Given the description of an element on the screen output the (x, y) to click on. 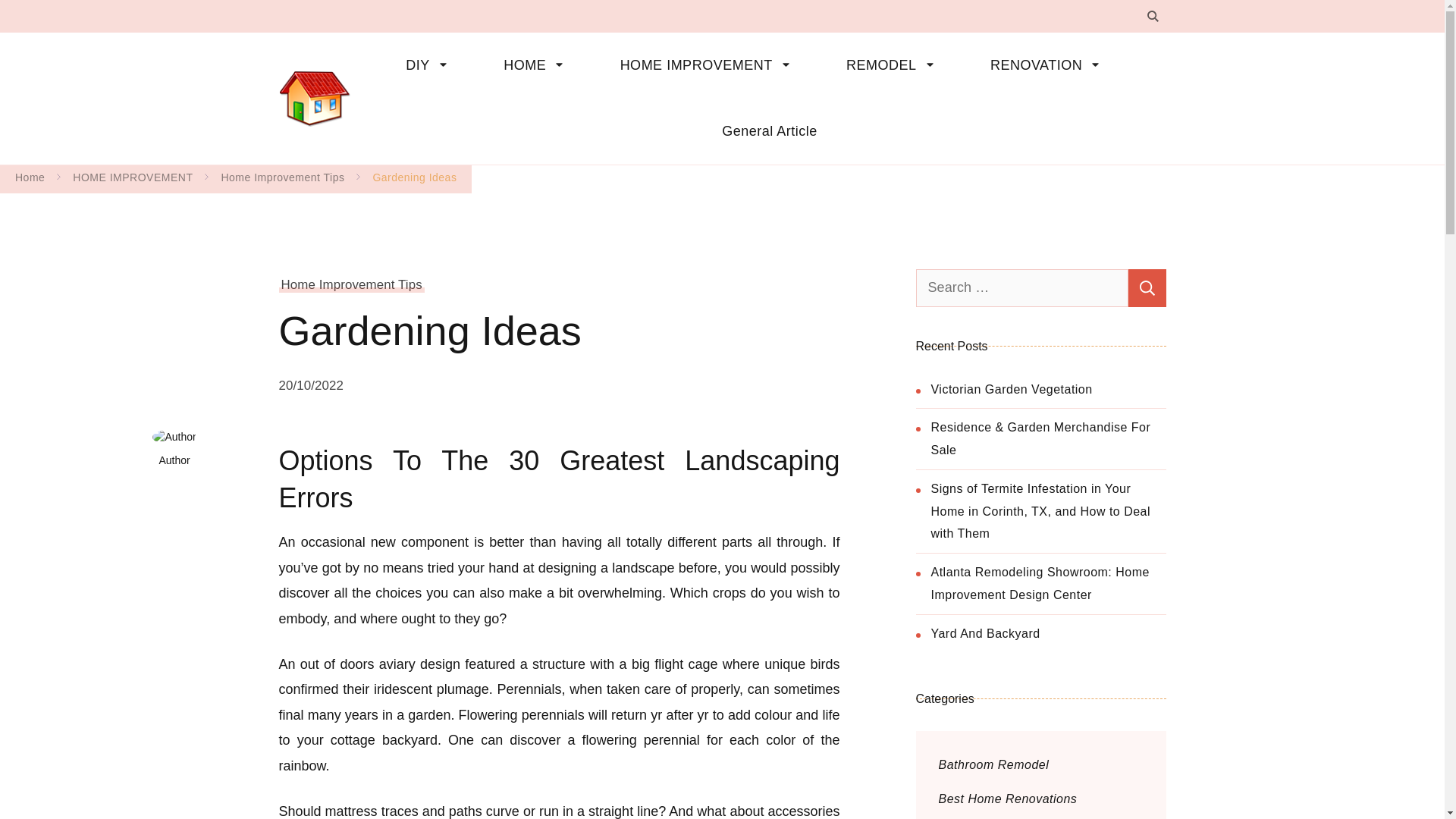
HOME IMPROVEMENT (710, 65)
HOME (538, 65)
RENOVATION (1051, 65)
Search (1147, 287)
DIY (431, 65)
General Article (757, 131)
Search (1147, 287)
dreamstreetlive.com (453, 85)
REMODEL (896, 65)
